Given the description of an element on the screen output the (x, y) to click on. 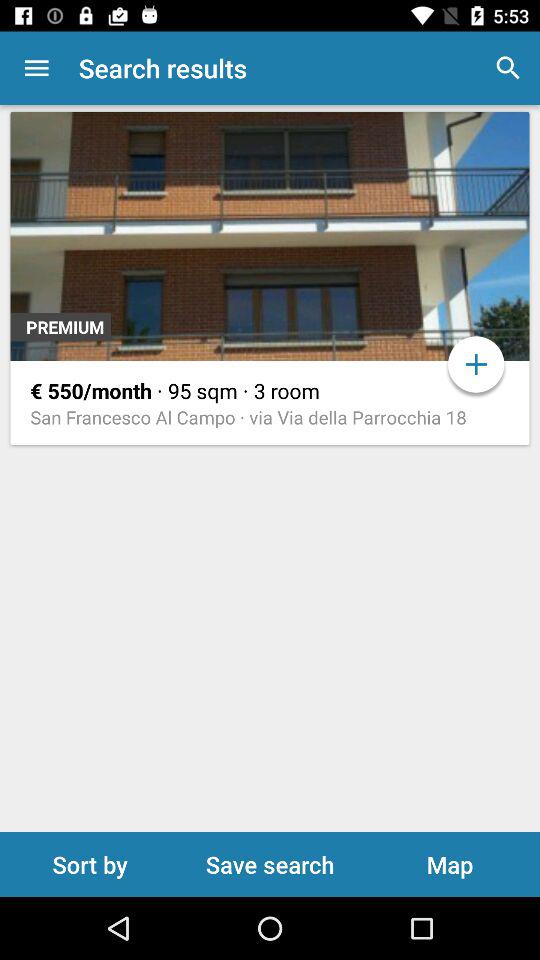
flip until the sort by item (90, 863)
